Given the description of an element on the screen output the (x, y) to click on. 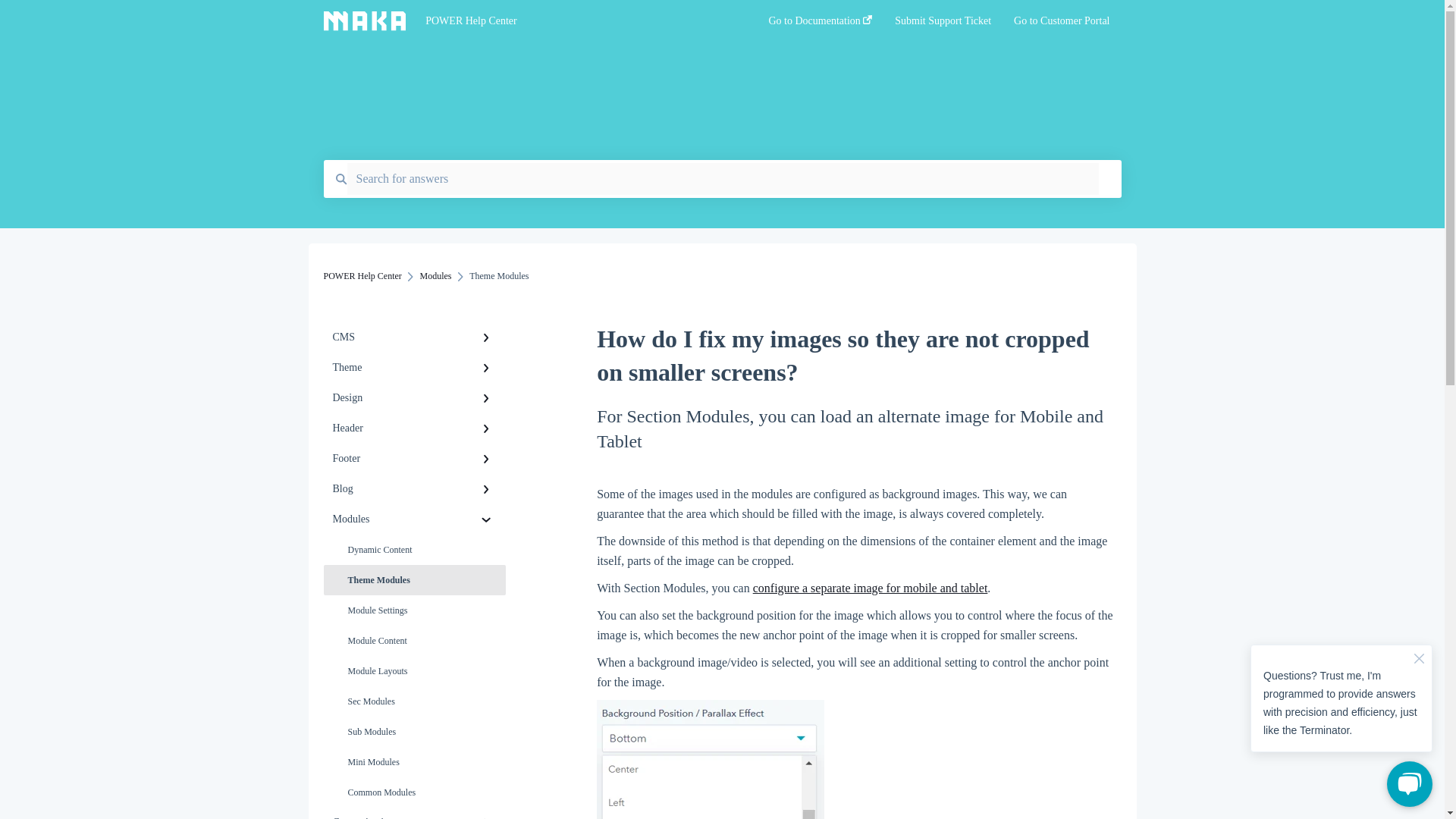
Go to Documentation (820, 25)
POWER Help Center (573, 21)
Submit Support Ticket (943, 25)
Go to Customer Portal (1061, 25)
